Given the description of an element on the screen output the (x, y) to click on. 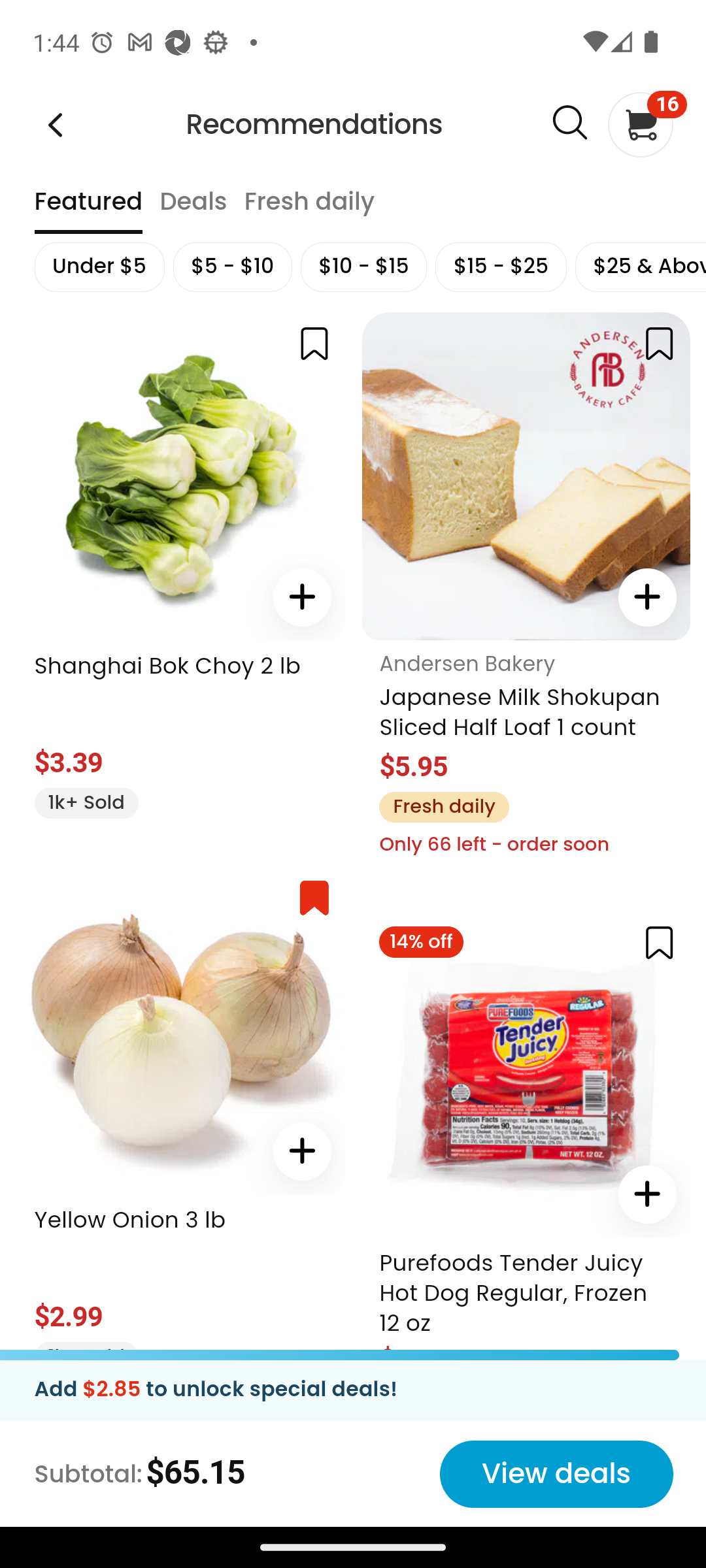
My cart 16 My cart (639, 124)
Weee! - Groceries Delivered (54, 124)
 (569, 123)
Featured (87, 210)
Deals (192, 210)
Fresh daily (308, 210)
Under $5 (97, 267)
Under $5 (97, 267)
$5 - $10 (231, 267)
$5 - $10 (231, 267)
$10 - $15 (362, 267)
$10 - $15 (362, 267)
$15 - $25 (500, 267)
$15 - $25 (500, 267)
$25 & Above (639, 267)
$25 & Above (639, 267)
 (313, 343)
 (659, 343)
 (301, 597)
 (647, 597)
Fresh daily (443, 806)
 (313, 897)
 (659, 941)
 (301, 1150)
 (647, 1193)
View deals (556, 1473)
